Given the description of an element on the screen output the (x, y) to click on. 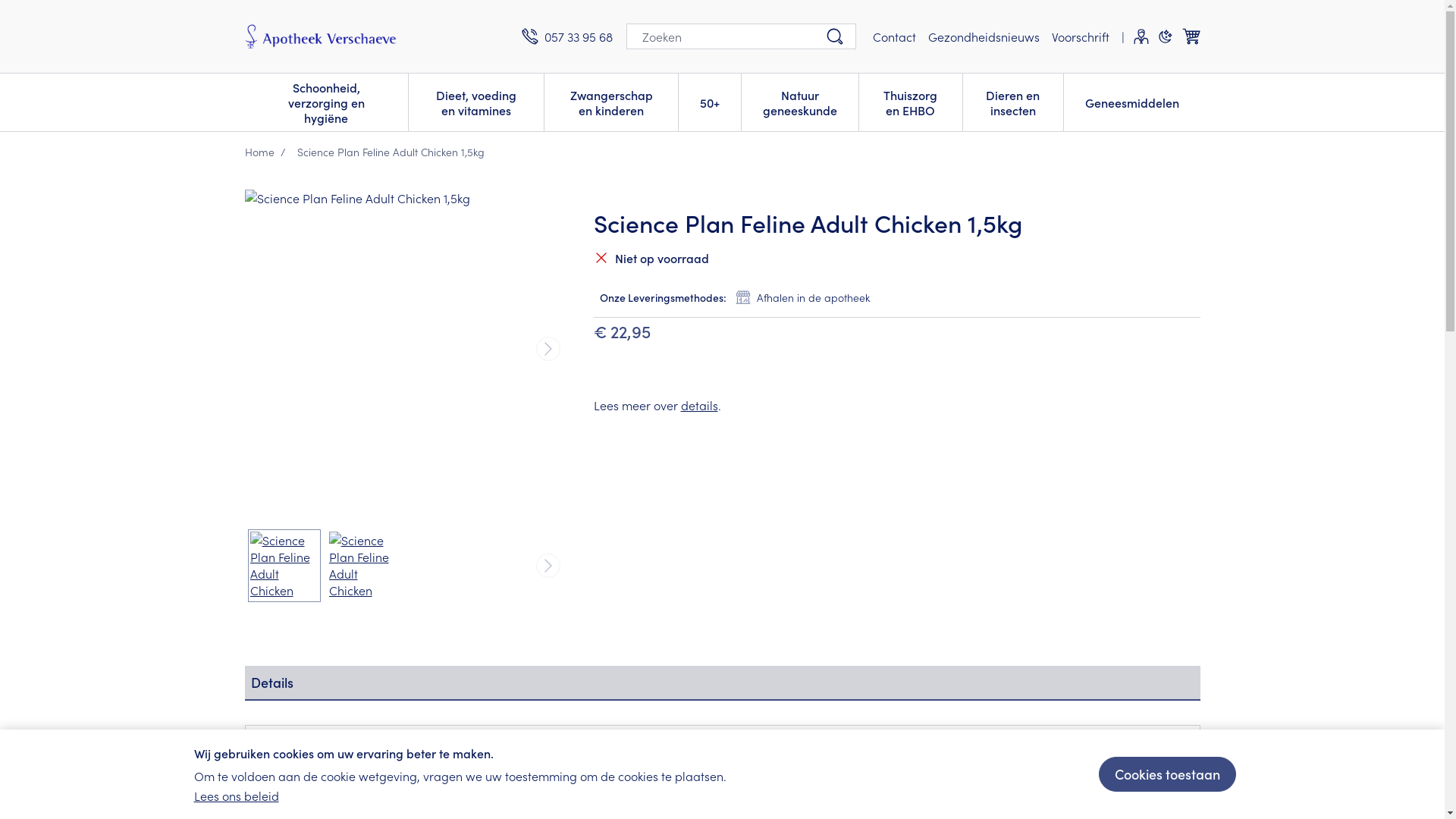
057 33 95 68 Element type: text (566, 36)
Geneesmiddelen Element type: text (1131, 100)
Science Plan Feline Adult Chicken 1,5kg Element type: hover (284, 565)
Voorschrift Element type: text (1079, 36)
Apotheek Verschaeve Element type: hover (319, 36)
Donkere modus Element type: text (1164, 35)
50+ Element type: text (709, 100)
Dieren en insecten Element type: text (1013, 100)
Lees ons beleid Element type: text (236, 795)
Home Element type: text (258, 151)
Dieet, voeding en vitamines Element type: text (475, 100)
Natuur geneeskunde Element type: text (799, 100)
Klant menu Element type: text (1140, 35)
Zwangerschap en kinderen Element type: text (610, 100)
Science Plan Feline Adult Chicken 1,5kg Element type: hover (403, 348)
Zoeken Element type: text (834, 36)
Science Plan Feline Adult Chicken 1,5kg 1 Element type: hover (363, 565)
Contact Element type: text (893, 36)
Thuiszorg en EHBO Element type: text (910, 100)
Cookies toestaan Element type: text (1166, 773)
Winkelwagen Element type: text (1190, 36)
Apotheek Verschaeve Element type: hover (376, 36)
Gezondheidsnieuws Element type: text (983, 36)
